Given the description of an element on the screen output the (x, y) to click on. 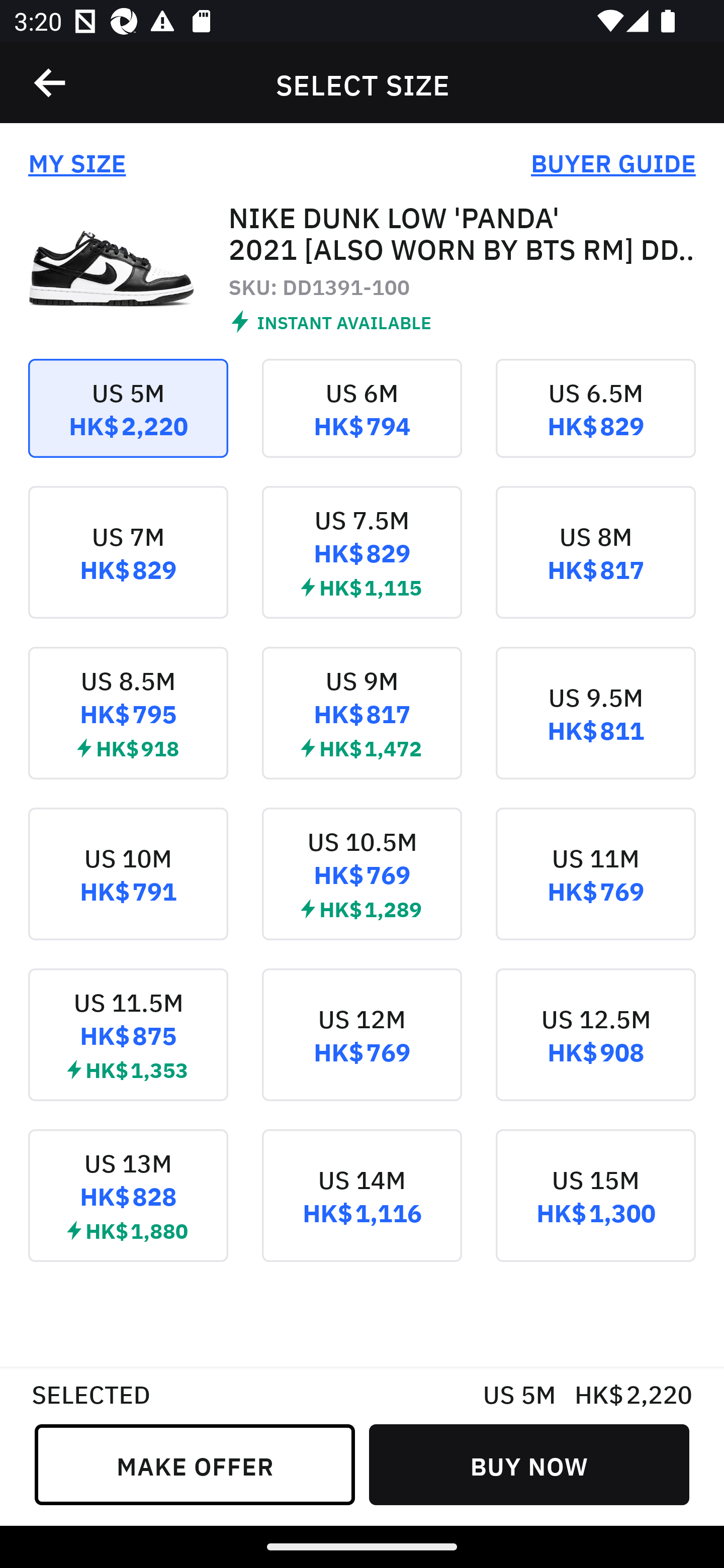
 (50, 83)
US 5M HK$ 2,220 (128, 422)
US 6M HK$ 794 (361, 422)
US 6.5M HK$ 829 (595, 422)
US 7M HK$ 829 (128, 566)
US 7.5M HK$ 829  HK$ 1,115 (361, 566)
US 8M HK$ 817 (595, 566)
US 8.5M HK$ 795  HK$ 918 (128, 726)
US 9M HK$ 817  HK$ 1,472 (361, 726)
US 9.5M HK$ 811 (595, 726)
US 10M HK$ 791 (128, 888)
US 10.5M HK$ 769  HK$ 1,289 (361, 888)
US 11M HK$ 769 (595, 888)
US 11.5M HK$ 875  HK$ 1,353 (128, 1048)
US 12M HK$ 769 (361, 1048)
US 12.5M HK$ 908 (595, 1048)
US 13M HK$ 828  HK$ 1,880 (128, 1209)
US 14M HK$ 1,116 (361, 1209)
US 15M HK$ 1,300 (595, 1209)
MAKE OFFER (194, 1464)
BUY NOW (529, 1464)
